Given the description of an element on the screen output the (x, y) to click on. 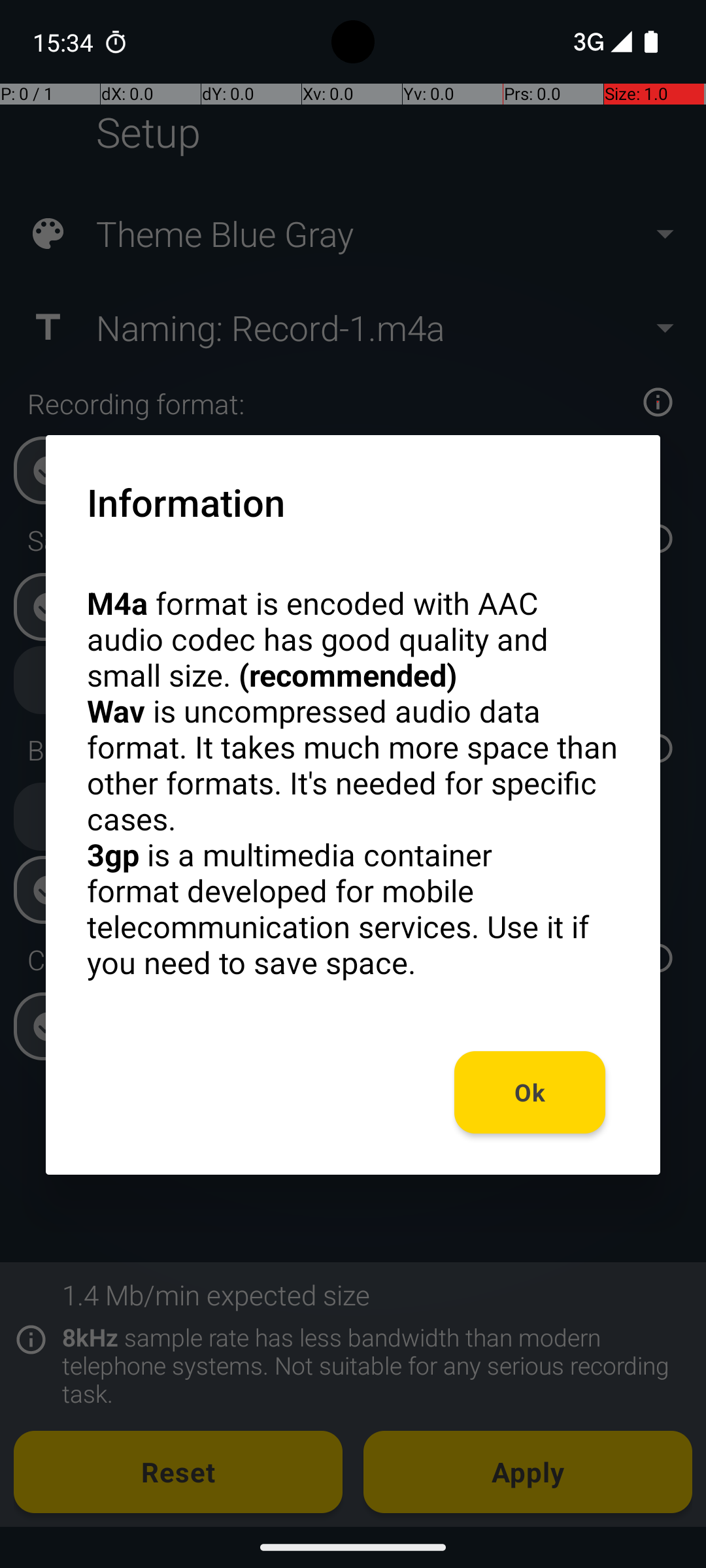
M4a format is encoded with AAC audio codec has good quality and small size. (recommended) 
Wav is uncompressed audio data format. It takes much more space than other formats. It's needed for specific cases. 
3gp is a multimedia container format developed for mobile telecommunication services. Use it if you need to save space.  Element type: android.widget.TextView (352, 782)
3G Element type: android.widget.ImageView (587, 41)
